Given the description of an element on the screen output the (x, y) to click on. 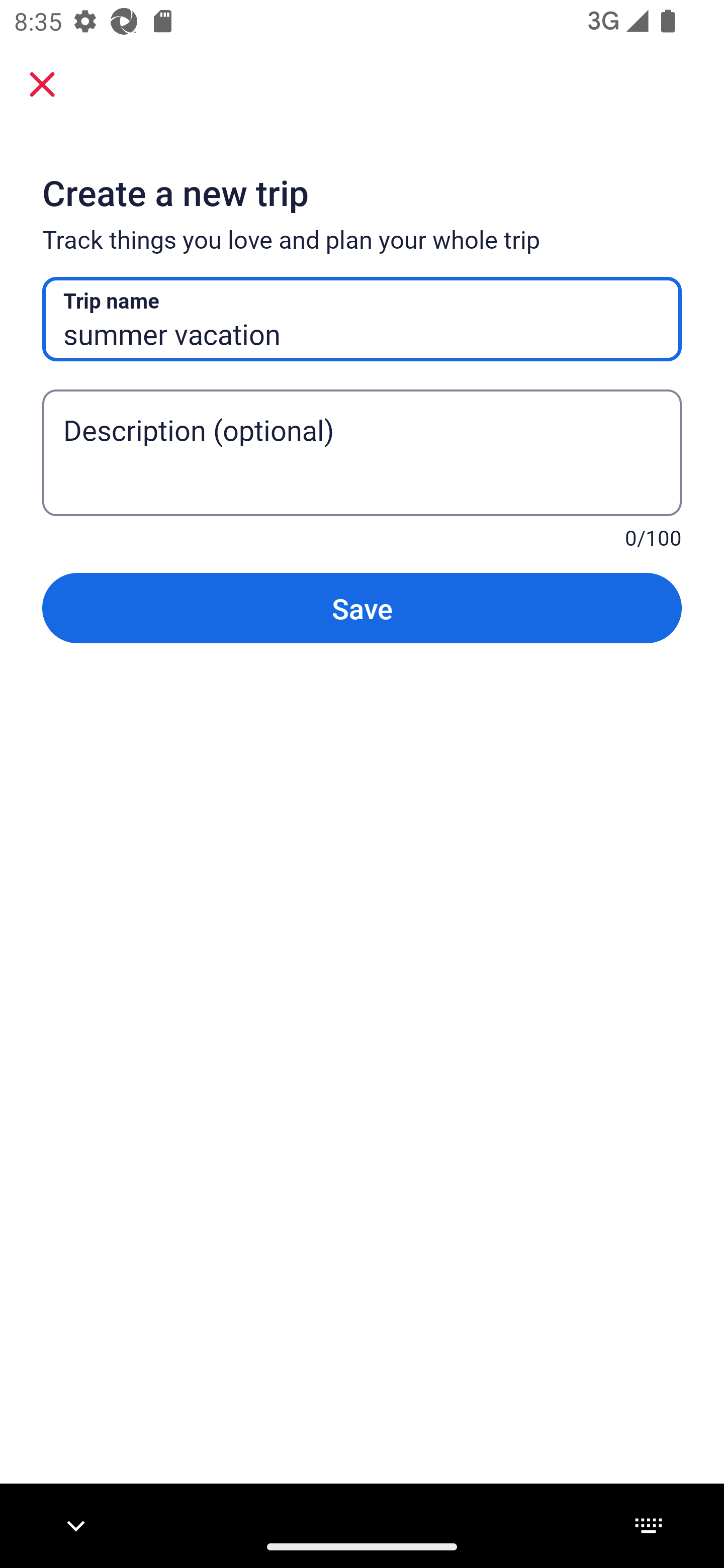
Close (41, 83)
summer vacation Trip name Trip name (361, 318)
Save Button Save (361, 607)
